Given the description of an element on the screen output the (x, y) to click on. 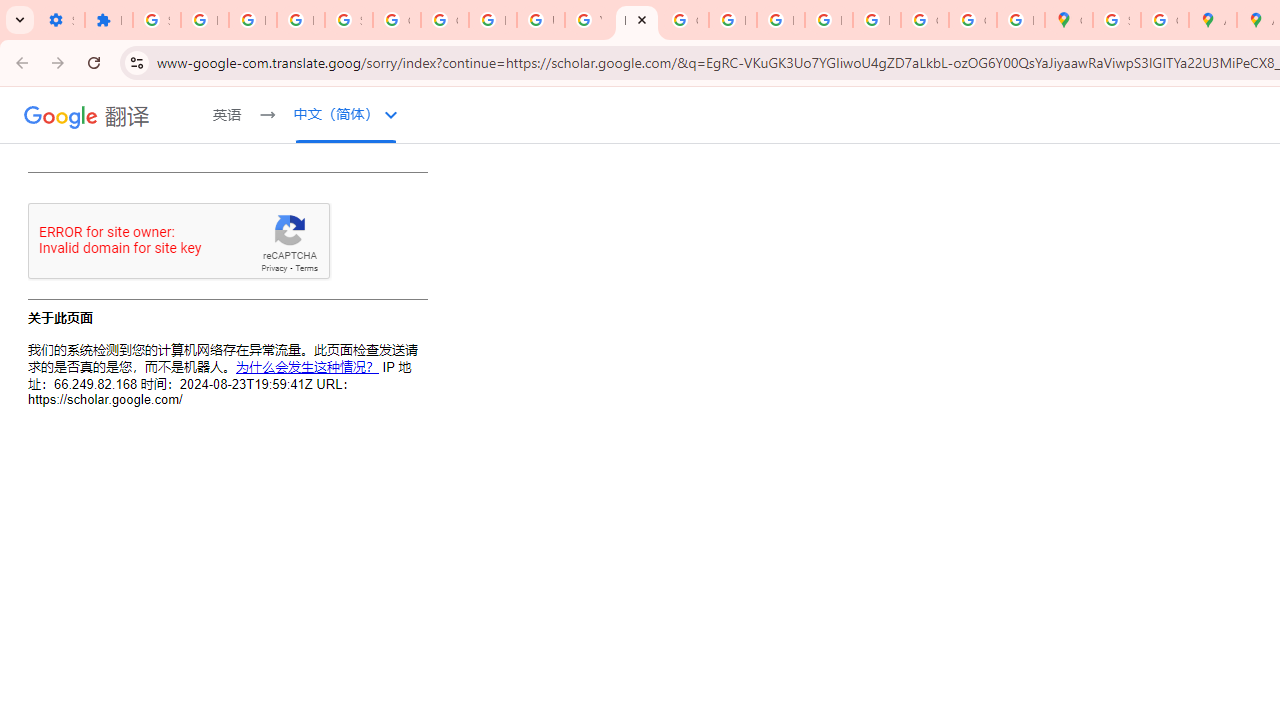
Sign in - Google Accounts (348, 20)
https://scholar.google.com/ (636, 20)
